Given the description of an element on the screen output the (x, y) to click on. 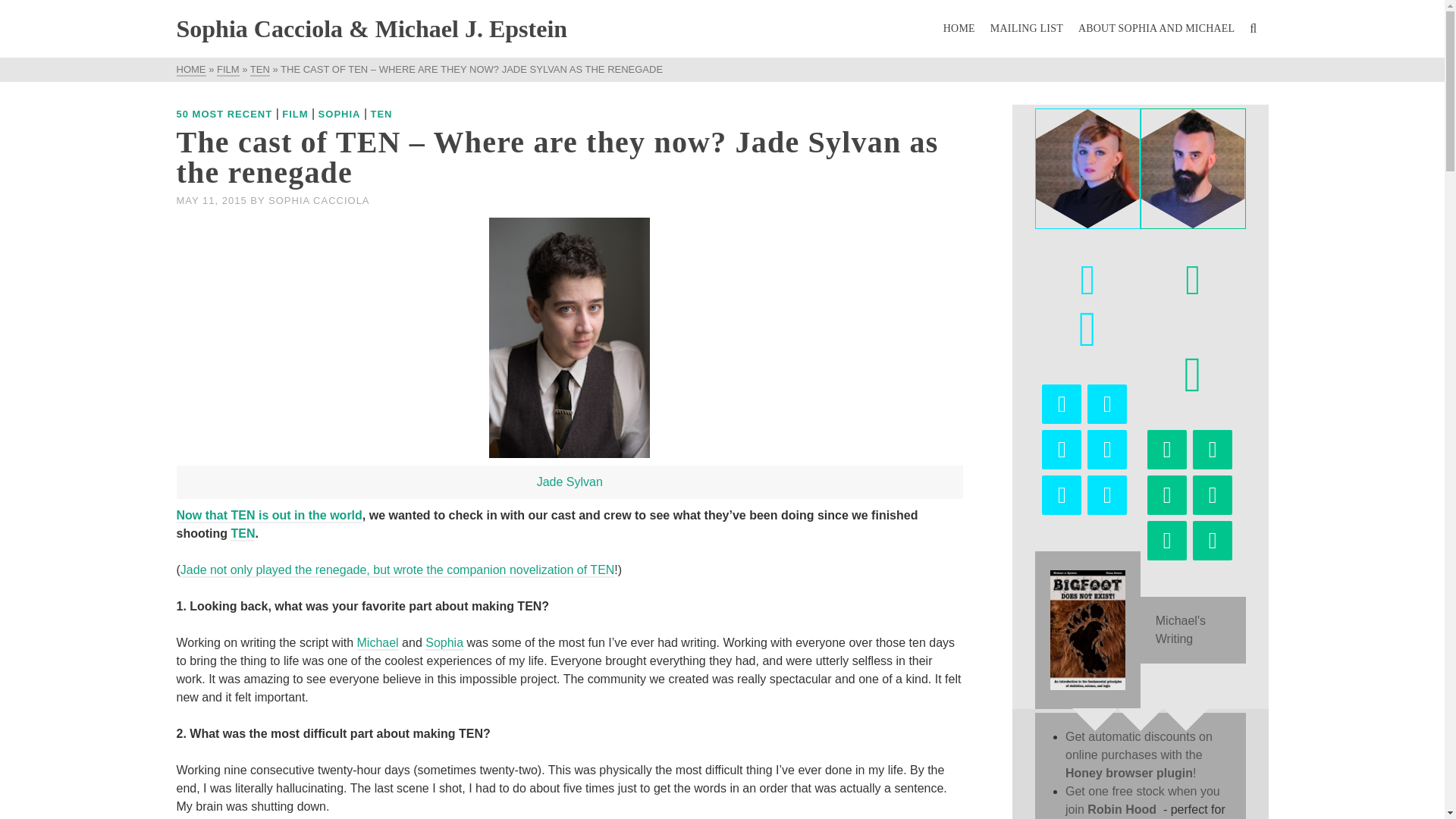
Michael (377, 643)
FILM (228, 69)
HOME (959, 28)
Sophia (444, 643)
Contact (1166, 449)
Twitter (1061, 449)
FILM (294, 113)
ABOUT SOPHIA AND MICHAEL (1155, 28)
Facebook (1106, 404)
YouTube (1061, 495)
Vimeo (1211, 540)
Instagram (1211, 495)
Now that TEN is out in the world (268, 515)
50 MOST RECENT (224, 113)
